Given the description of an element on the screen output the (x, y) to click on. 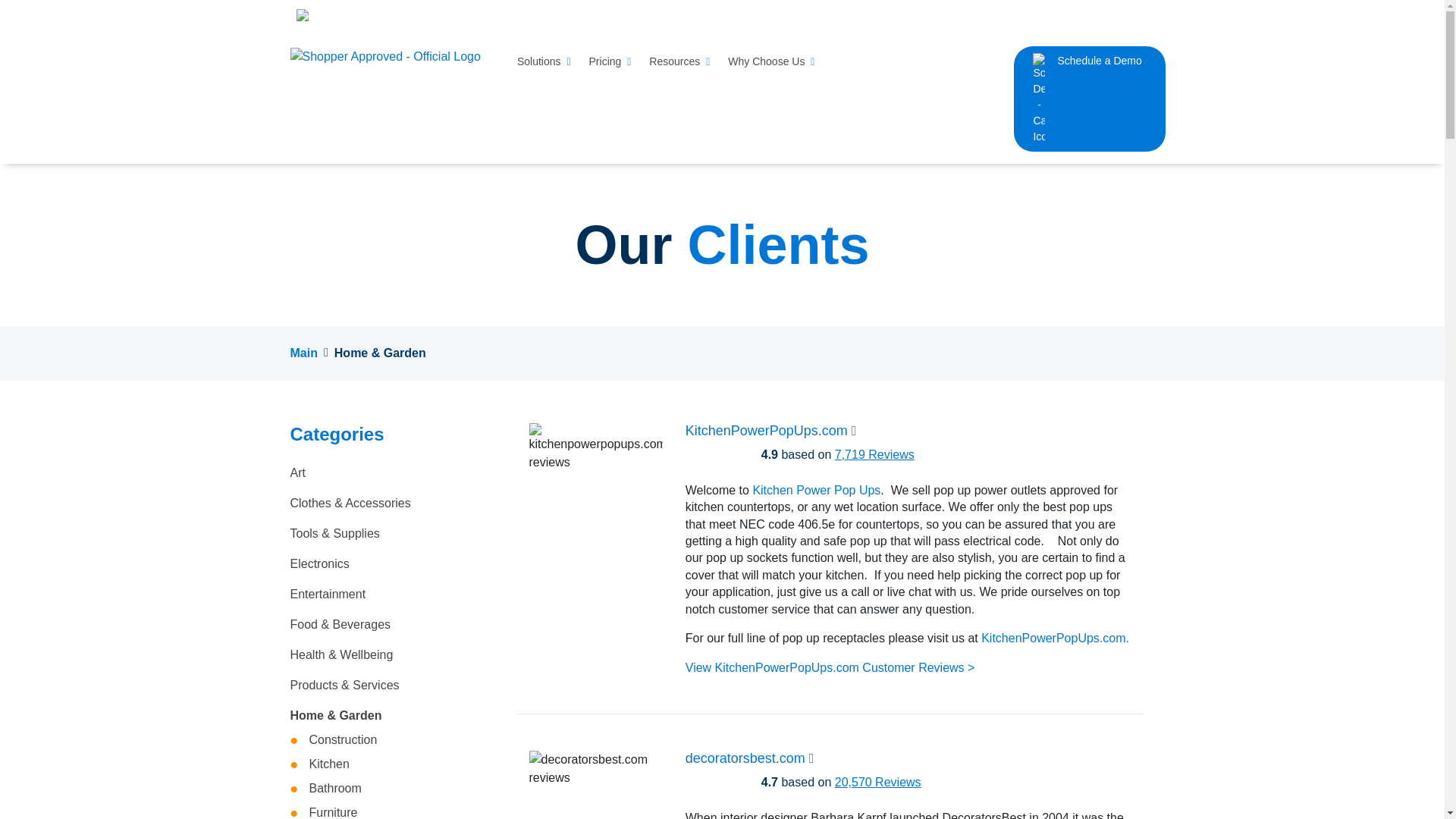
Why Choose Us (771, 61)
Pricing (610, 61)
Contact Us (1080, 15)
Write a Review (917, 15)
Resources (679, 61)
Log In (1136, 15)
Solutions (543, 61)
